Given the description of an element on the screen output the (x, y) to click on. 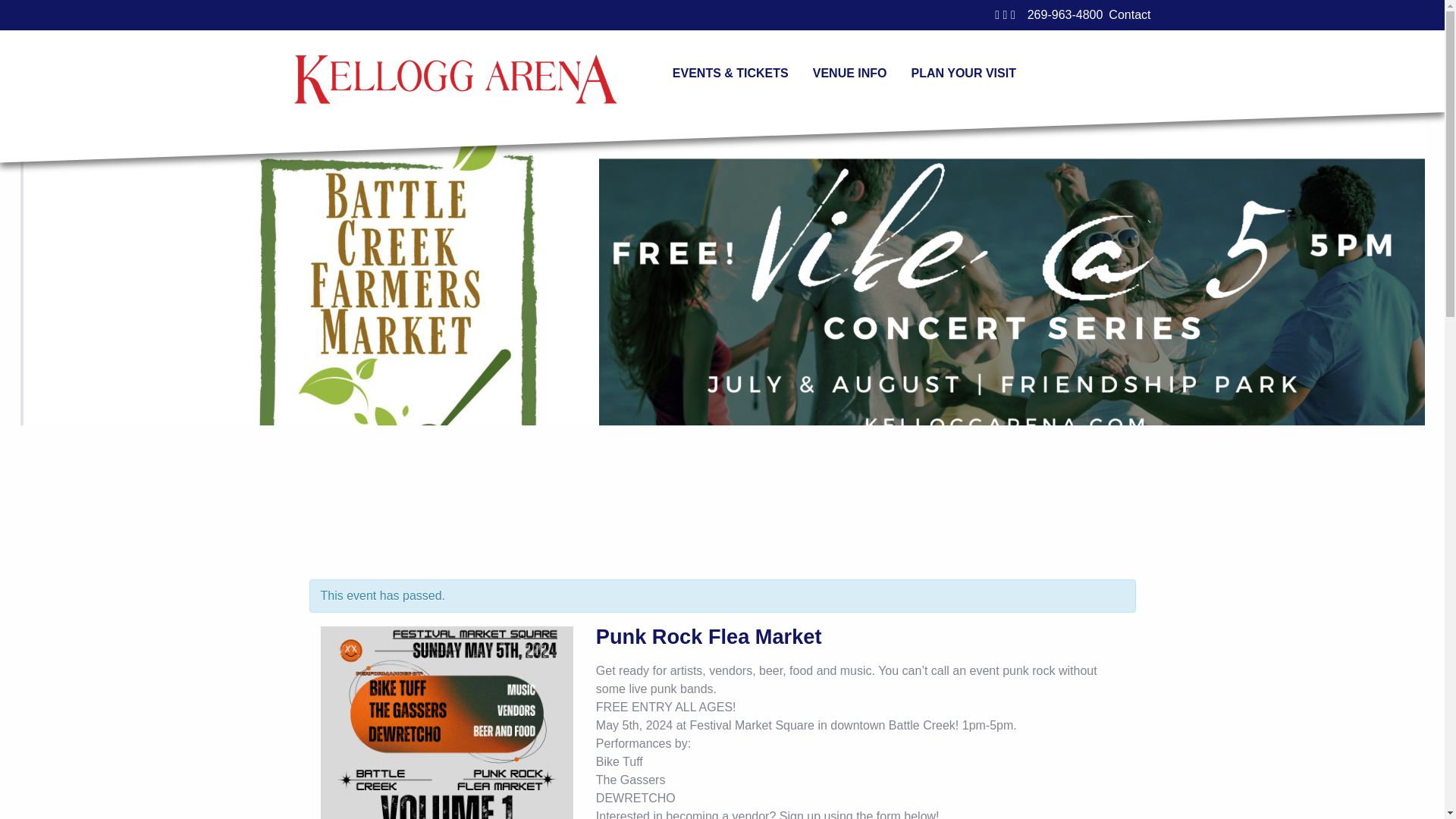
269-963-4800 (1065, 14)
VENUE INFO (849, 72)
PLAN YOUR VISIT (963, 72)
Contact (1129, 14)
